Given the description of an element on the screen output the (x, y) to click on. 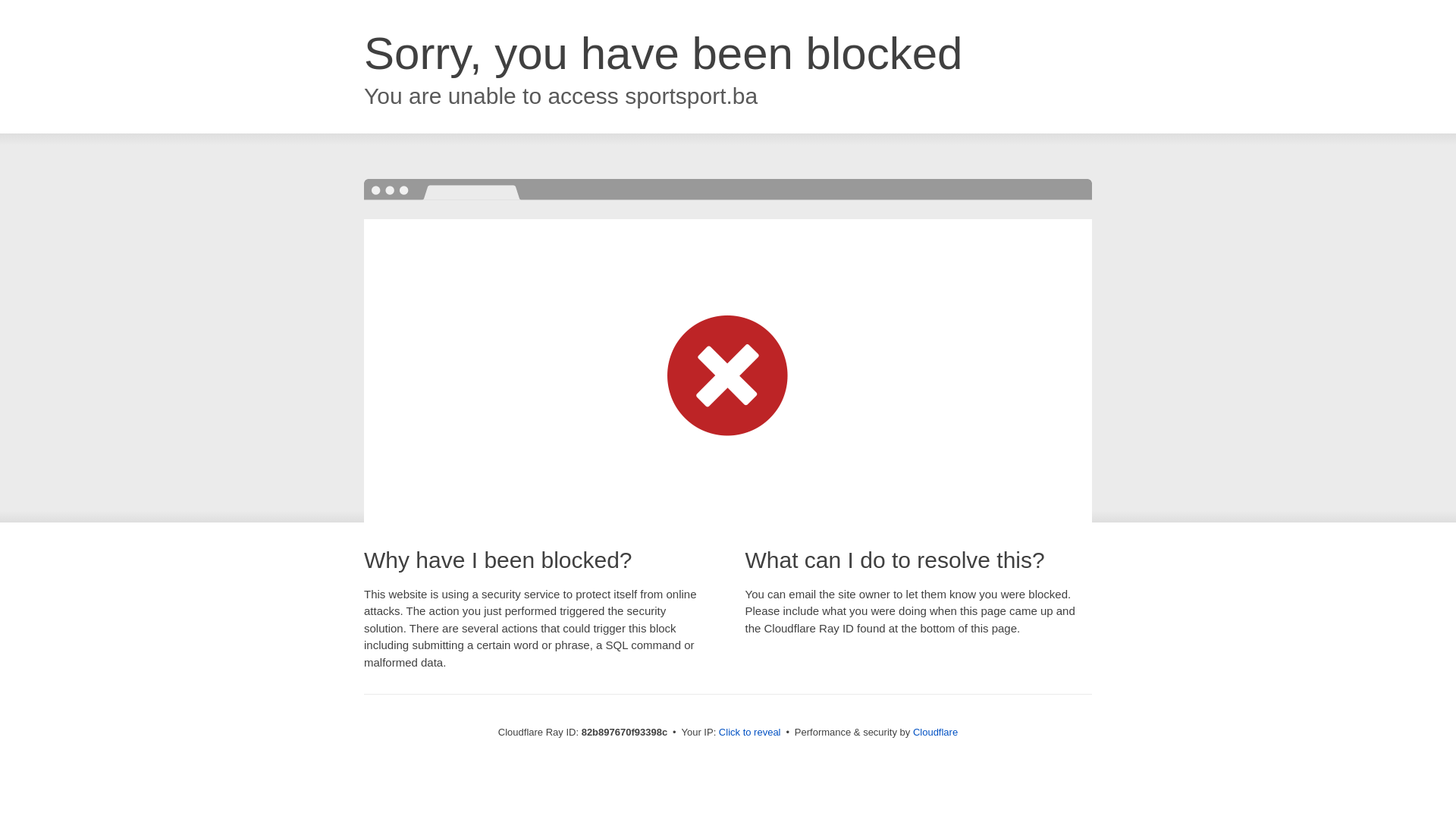
Cloudflare Element type: text (935, 731)
Click to reveal Element type: text (749, 732)
